Given the description of an element on the screen output the (x, y) to click on. 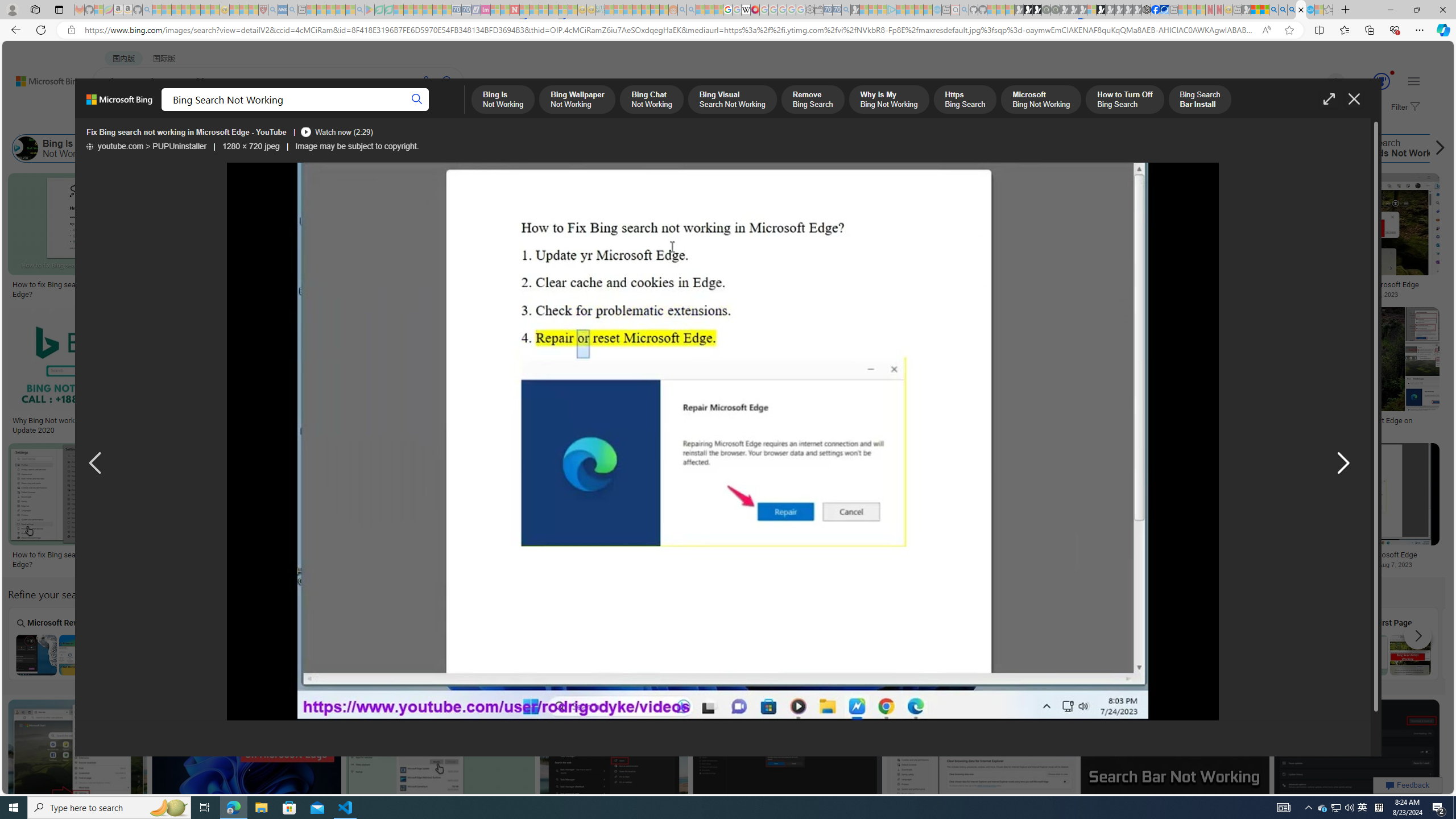
Scroll right (1436, 148)
Bing Search Box Not Working (262, 655)
Local - MSN - Sleeping (253, 9)
Video (877, 643)
Bing Search the Web for Image Not Working (671, 655)
Bing Search Engine Not Working (1184, 655)
Filter (1403, 107)
